Given the description of an element on the screen output the (x, y) to click on. 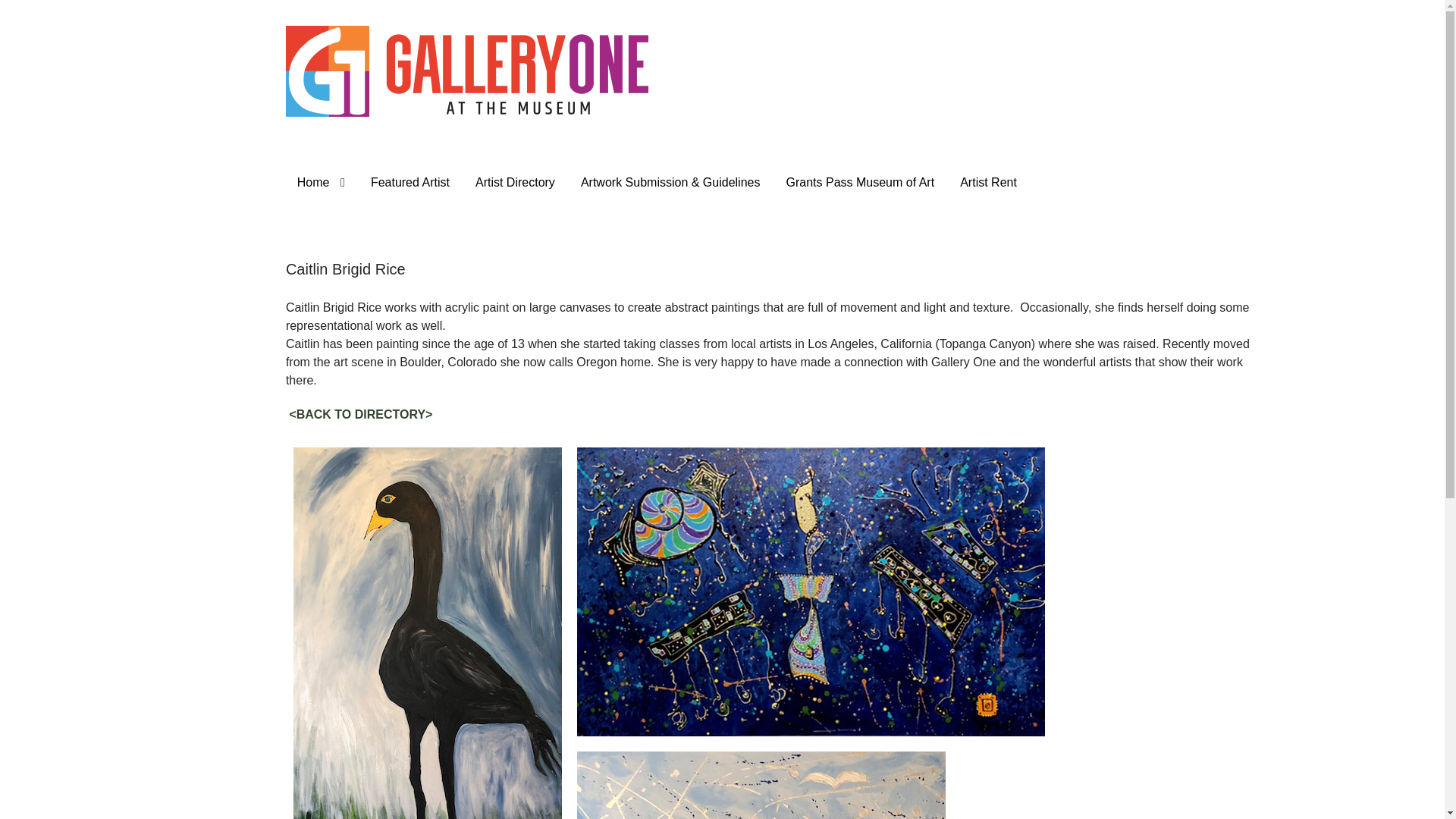
Artist Directory (515, 182)
Artist Rent (988, 182)
Home (320, 182)
Grants Pass Museum of Art (859, 182)
Featured Artist (410, 182)
